Given the description of an element on the screen output the (x, y) to click on. 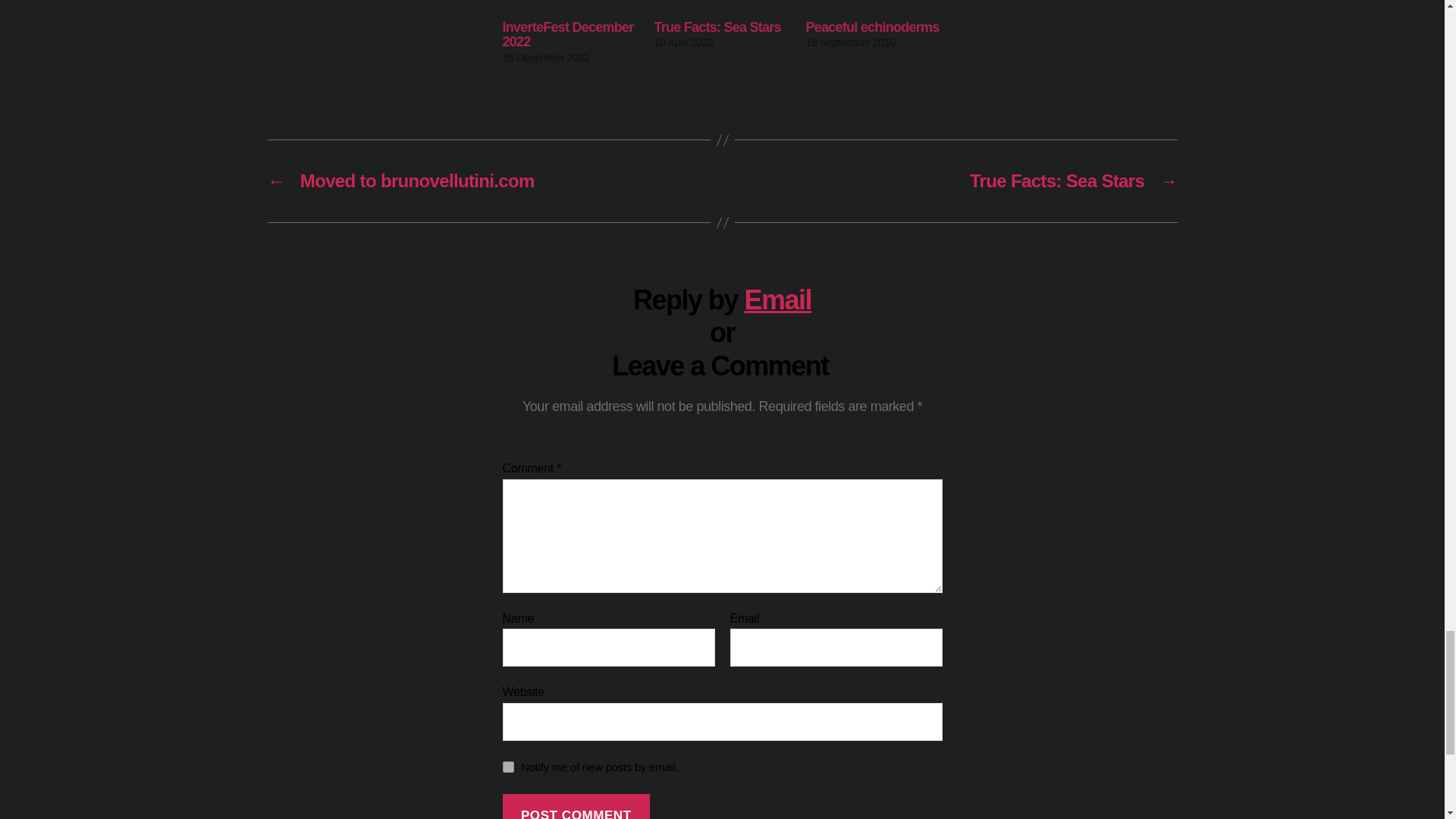
Peaceful echinoderms (873, 6)
InverteFest December 2022 (567, 34)
subscribe (507, 767)
InverteFest December 2022 (570, 6)
True Facts: Sea Stars (716, 27)
Post Comment (575, 806)
True Facts: Sea Stars (721, 6)
Peaceful echinoderms (872, 27)
